Given the description of an element on the screen output the (x, y) to click on. 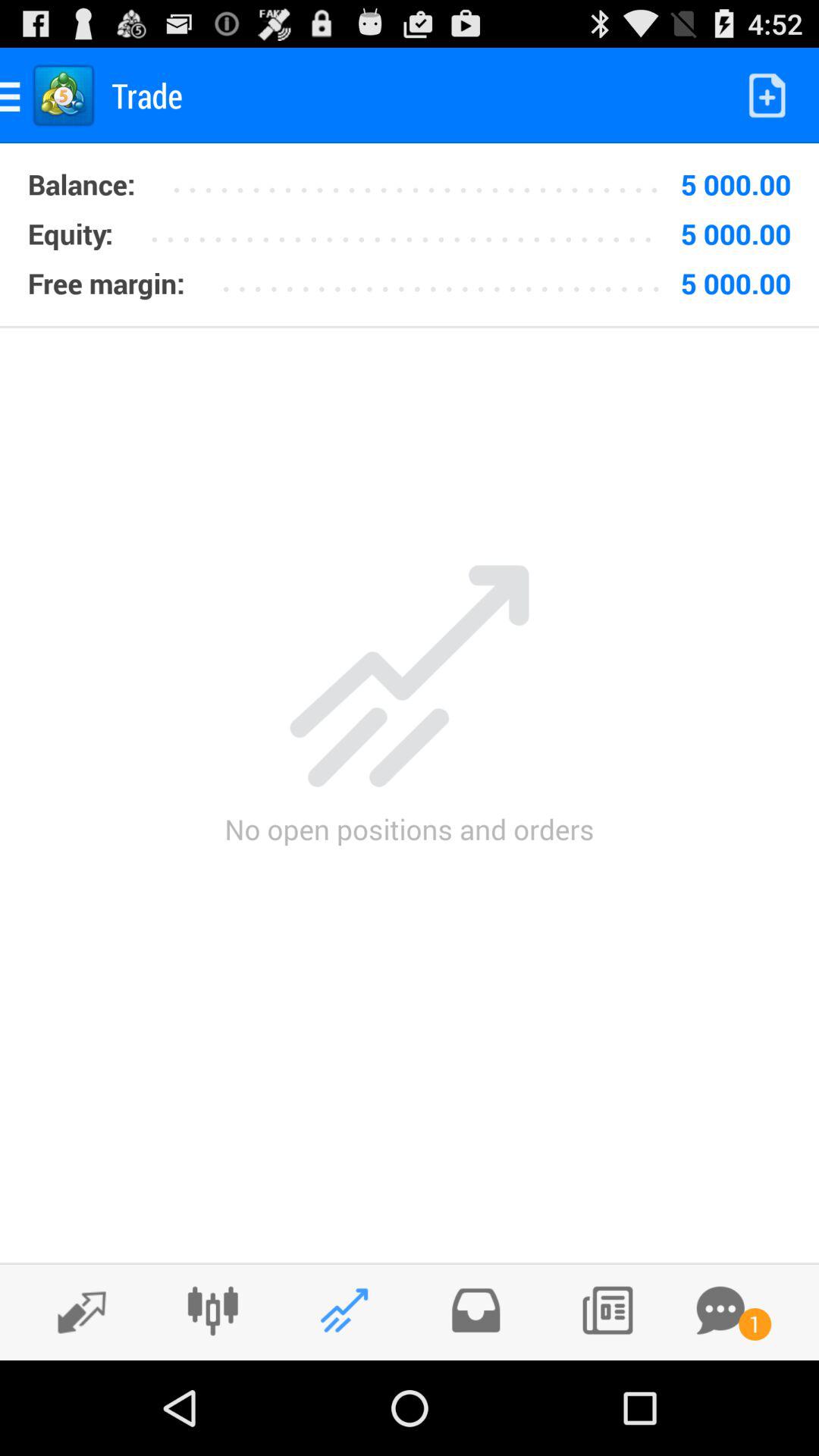
launch the item below the balance: (410, 228)
